Given the description of an element on the screen output the (x, y) to click on. 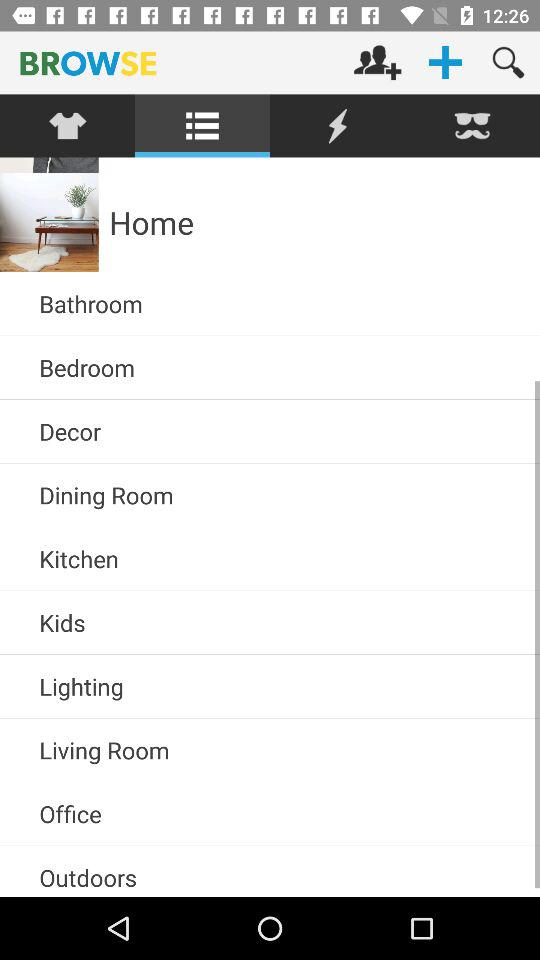
click current option (337, 125)
